Given the description of an element on the screen output the (x, y) to click on. 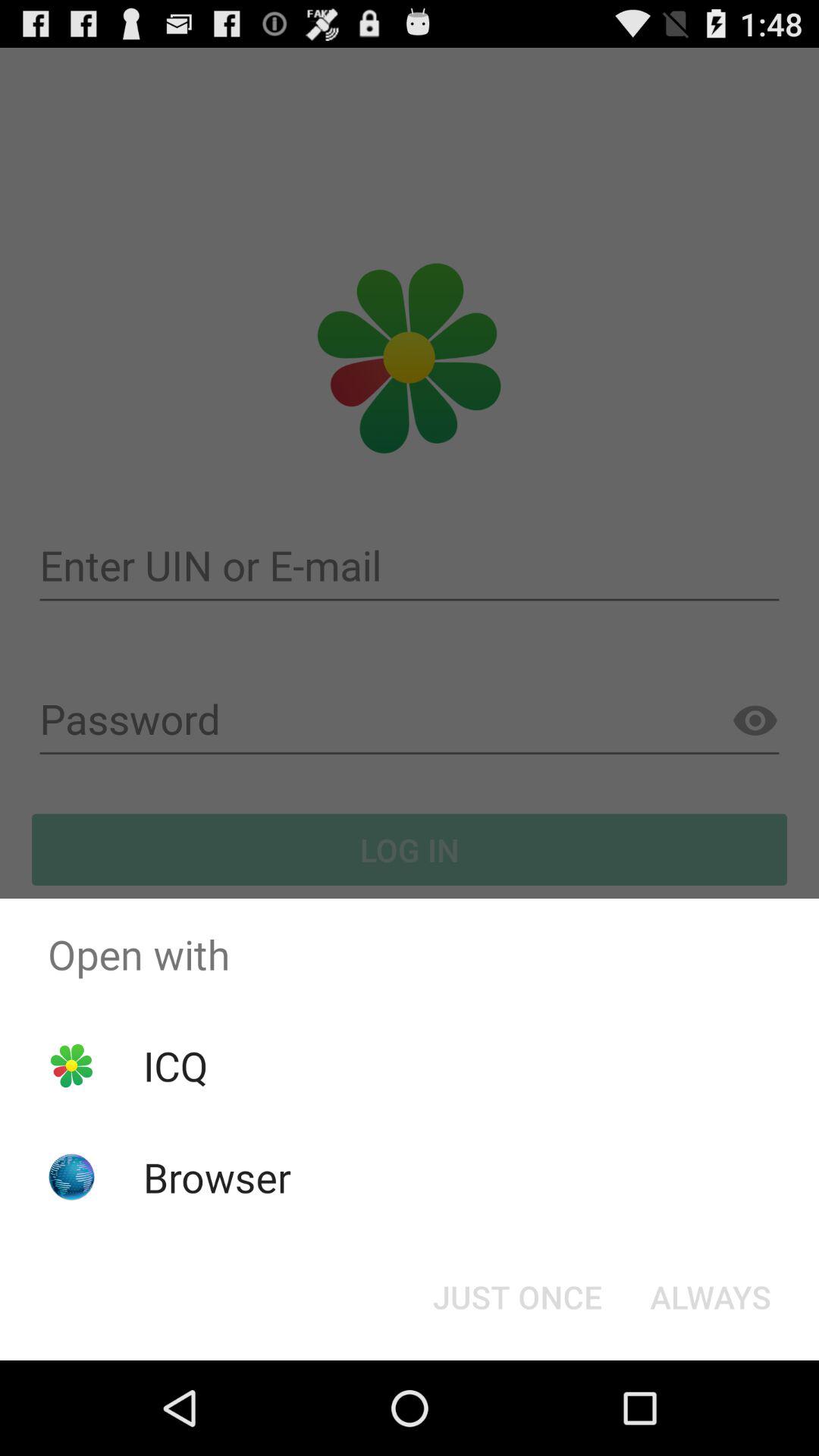
turn on always button (710, 1296)
